Given the description of an element on the screen output the (x, y) to click on. 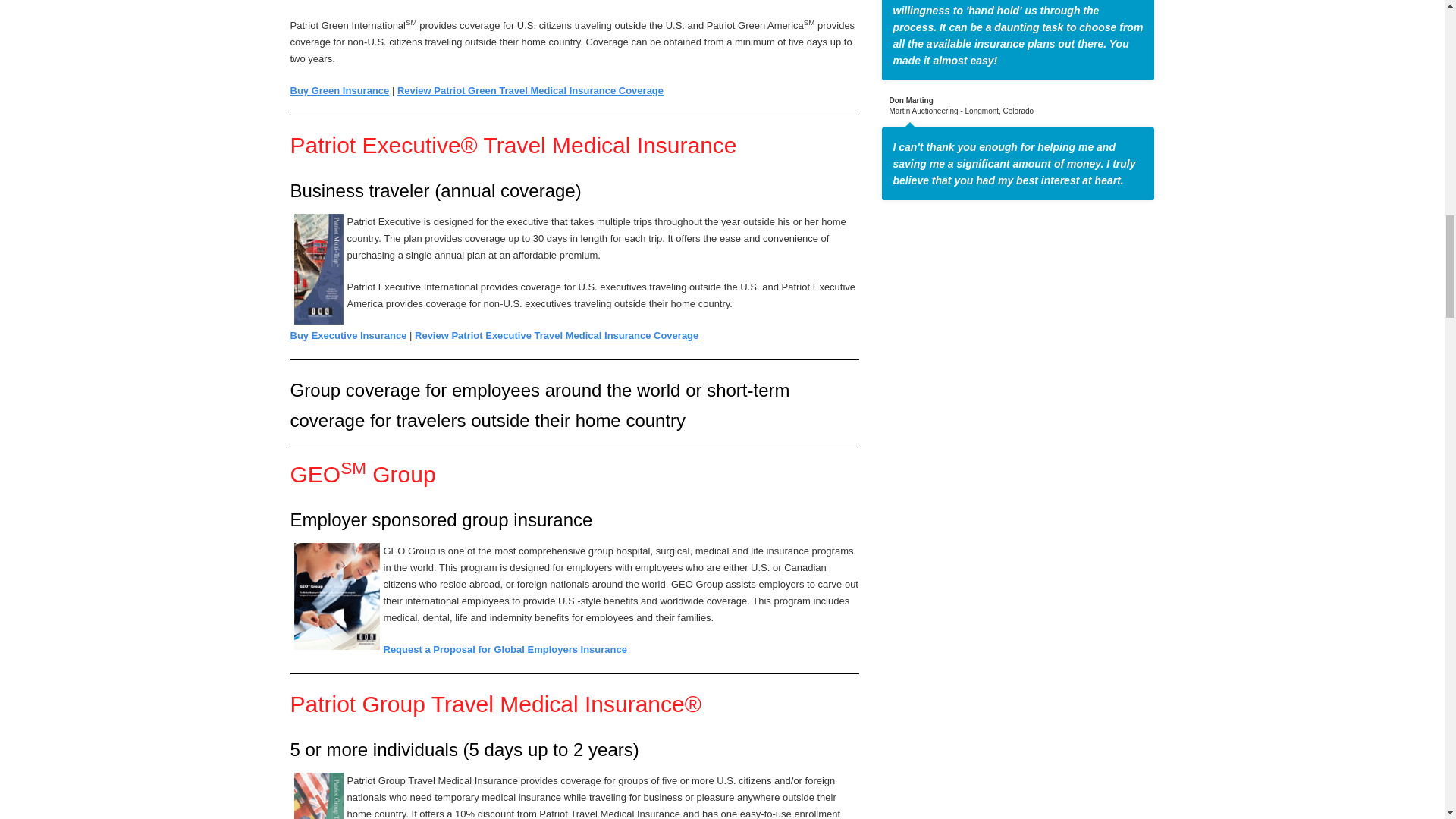
Buy Patriot Green Travel Medical Insurance (338, 90)
Review Patriot Green Travel Medical Insurance Coverage (530, 90)
